Given the description of an element on the screen output the (x, y) to click on. 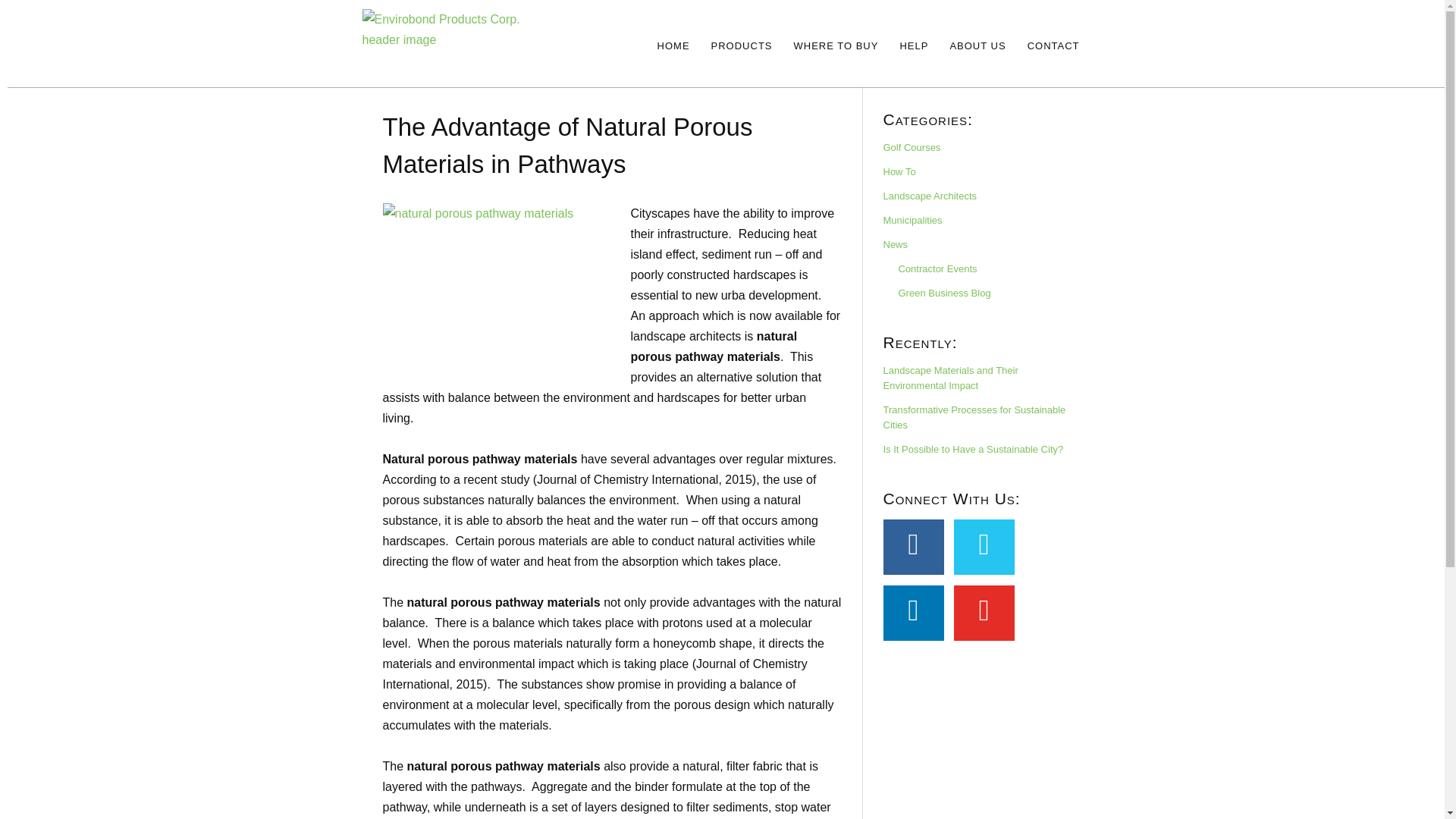
Green Business Blog (944, 292)
Read Transformative Processes for Sustainable Cities (973, 417)
Golf Courses (911, 147)
Is It Possible to Have a Sustainable City? (972, 449)
Municipalities (912, 220)
News (894, 244)
Landscape Materials and Their Environmental Impact (949, 377)
WHERE TO BUY (835, 45)
CONTACT (1053, 45)
HOME (673, 45)
Read Is It Possible to Have a Sustainable City? (972, 449)
Read Landscape Materials and Their Environmental Impact (949, 377)
PRODUCTS (741, 45)
Landscape Architects (929, 195)
Transformative Processes for Sustainable Cities (973, 417)
